Given the description of an element on the screen output the (x, y) to click on. 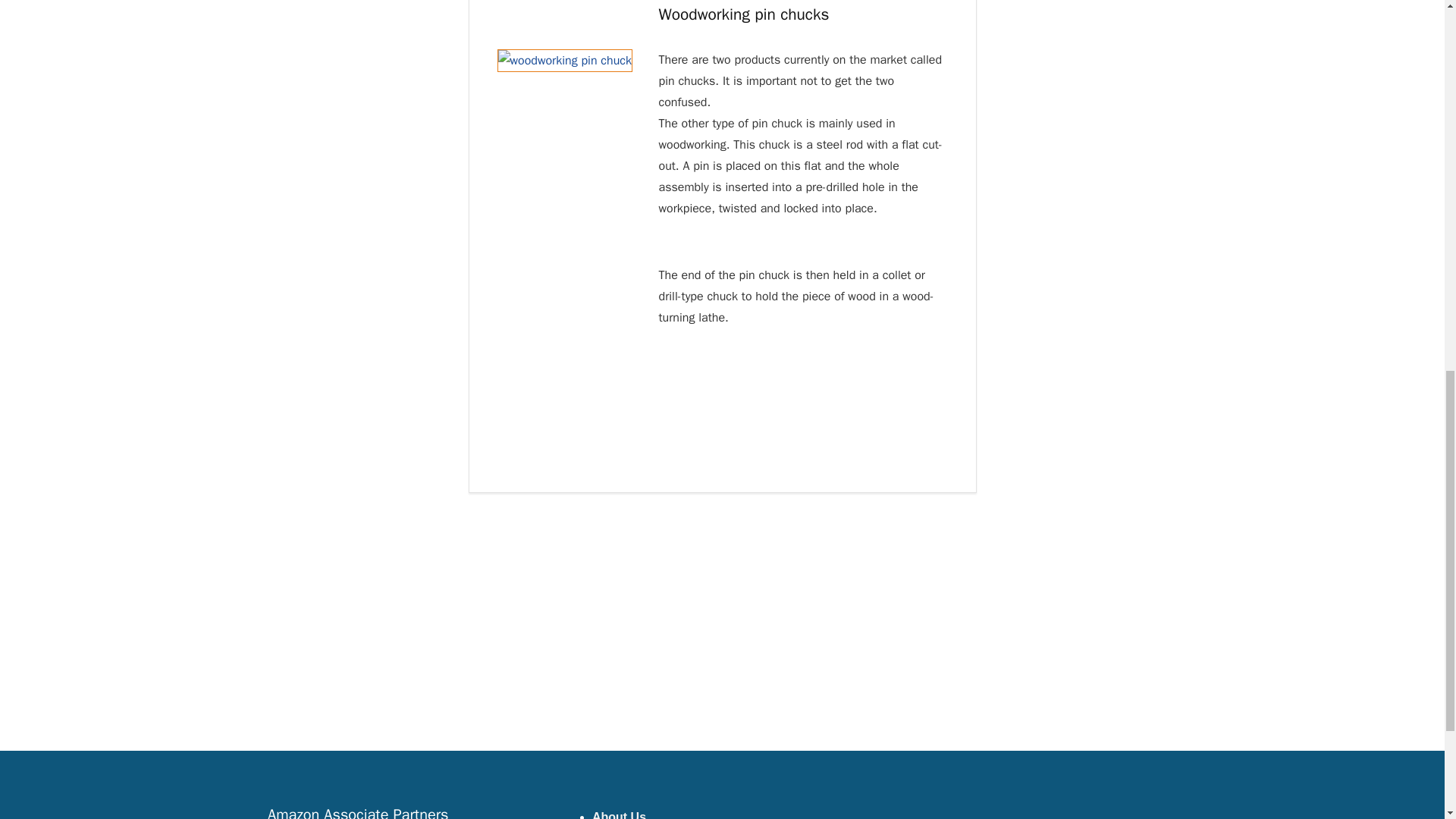
Advertisement (721, 784)
woodworking pin chuck (564, 60)
